Given the description of an element on the screen output the (x, y) to click on. 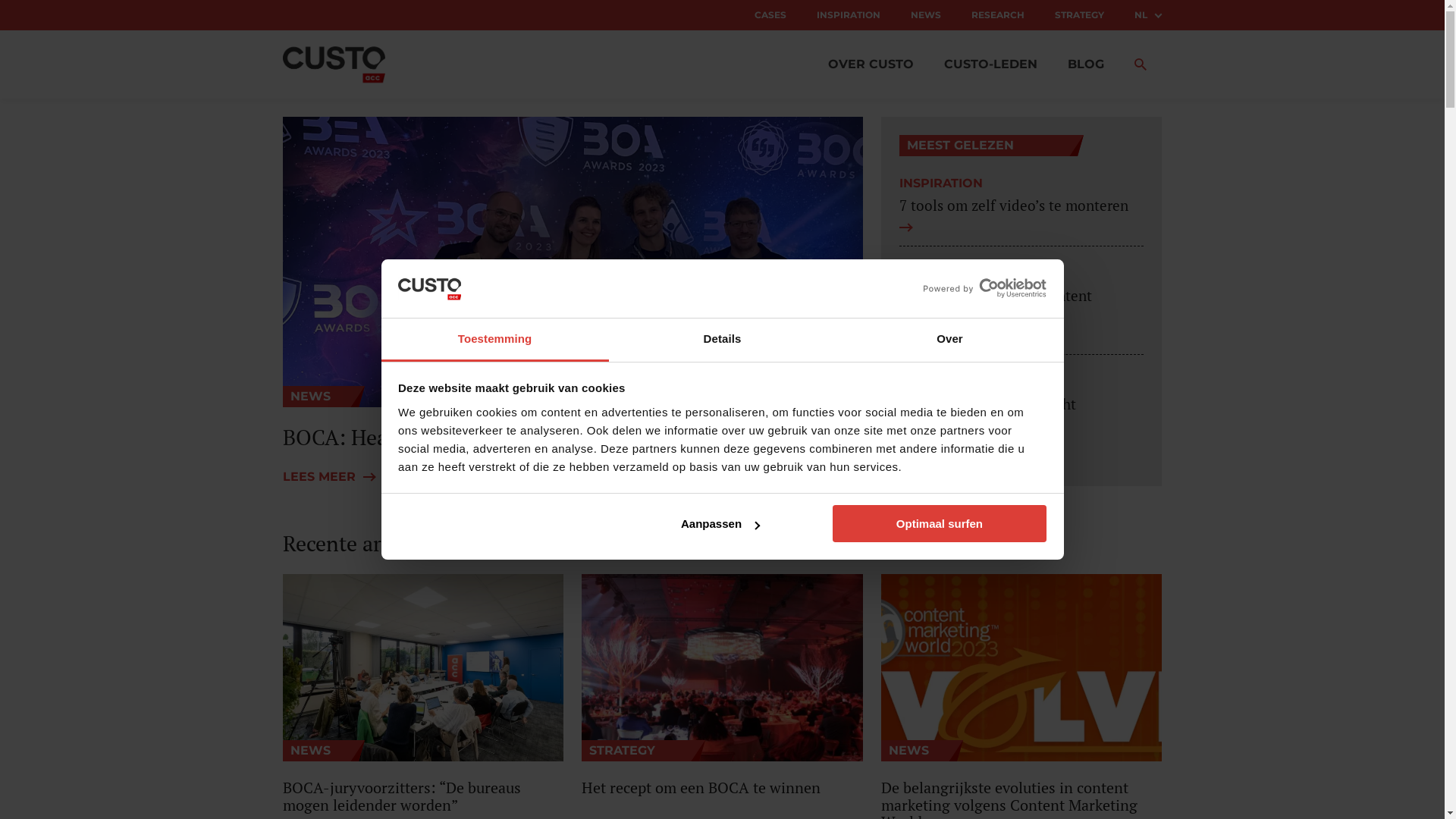
CASES Element type: text (769, 15)
BLOG Element type: text (1085, 64)
RESEARCH Element type: text (996, 15)
NEWS Element type: text (924, 15)
Details Element type: text (721, 339)
BOCA: HeadOffice grote slokop Element type: text (572, 437)
INSPIRATION Element type: text (847, 15)
Over Element type: text (949, 339)
OVER CUSTO Element type: text (870, 64)
Open zoekbalk Element type: text (1140, 64)
Delhaize magazine als echt contentplatform Element type: text (1021, 424)
Optimaal surfen Element type: text (939, 523)
Toestemming Element type: text (494, 339)
CUSTO-LEDEN Element type: text (990, 64)
STRATEGY Element type: text (1078, 15)
Aanpassen Element type: text (719, 523)
LEES MEER Element type: text (333, 476)
Het recept om een BOCA te winnen Element type: text (721, 788)
